Given the description of an element on the screen output the (x, y) to click on. 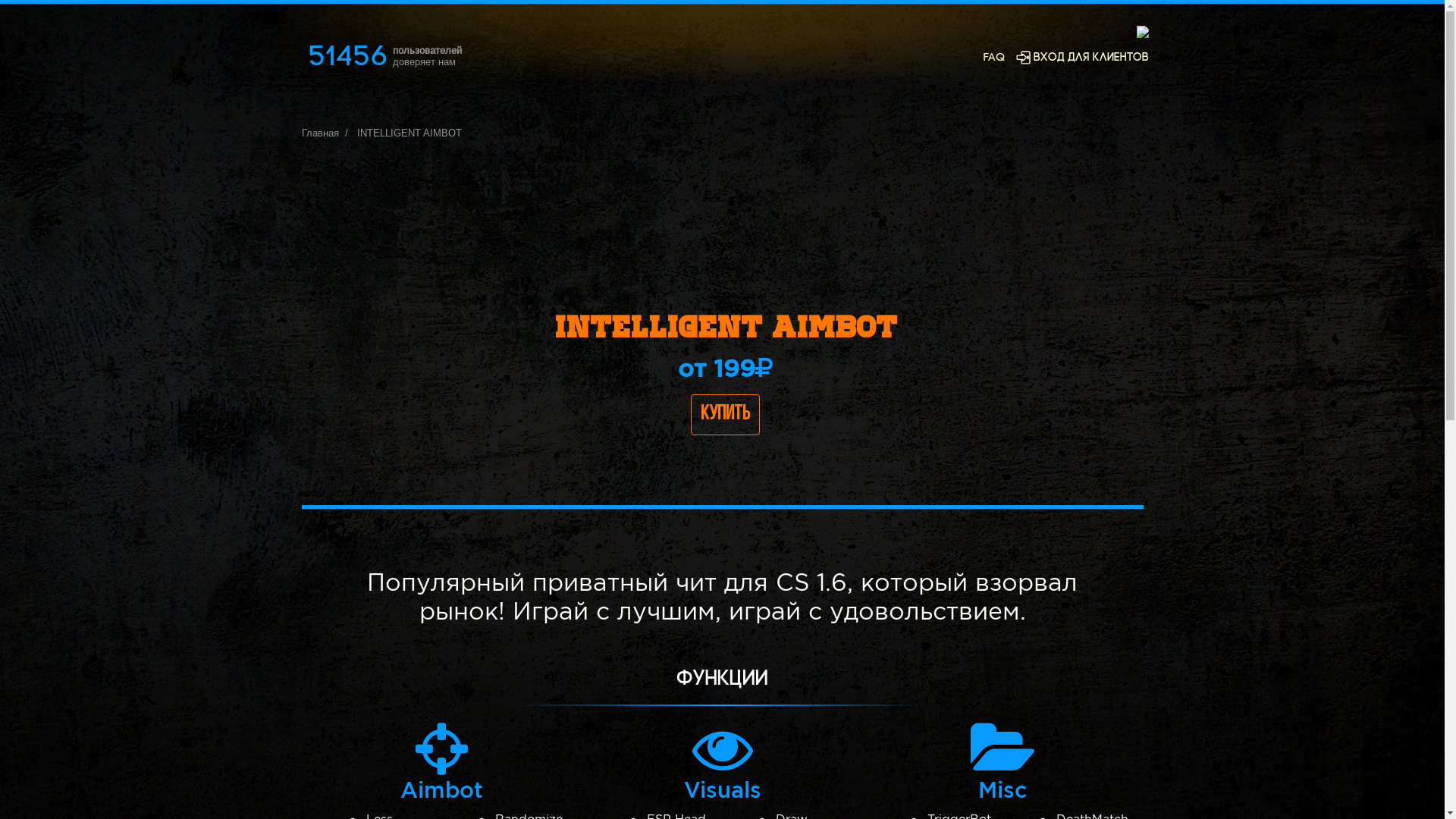
INTELLIGENT AIMBOT Element type: text (408, 132)
FAQ Element type: text (993, 57)
